Given the description of an element on the screen output the (x, y) to click on. 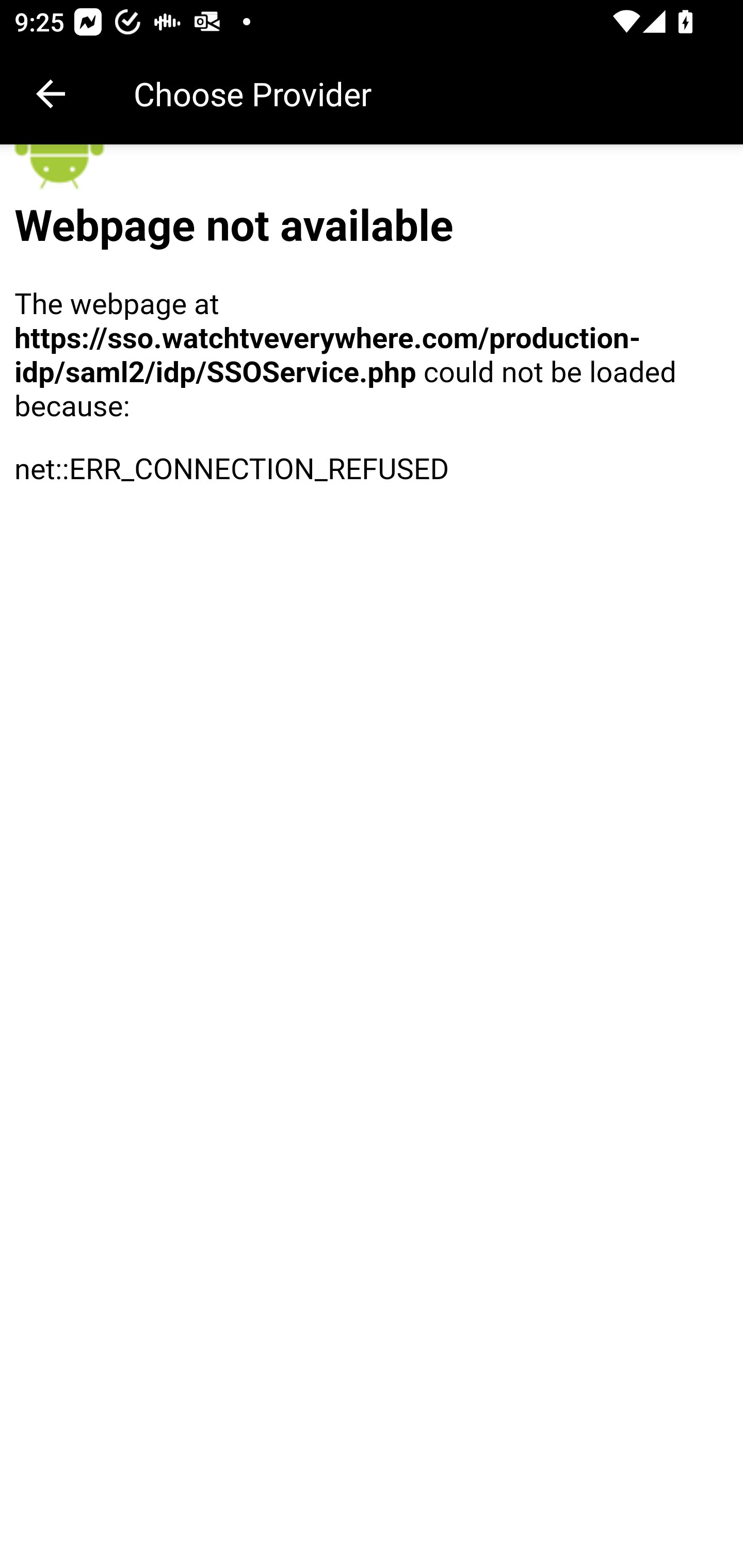
Navigate up (50, 93)
